Given the description of an element on the screen output the (x, y) to click on. 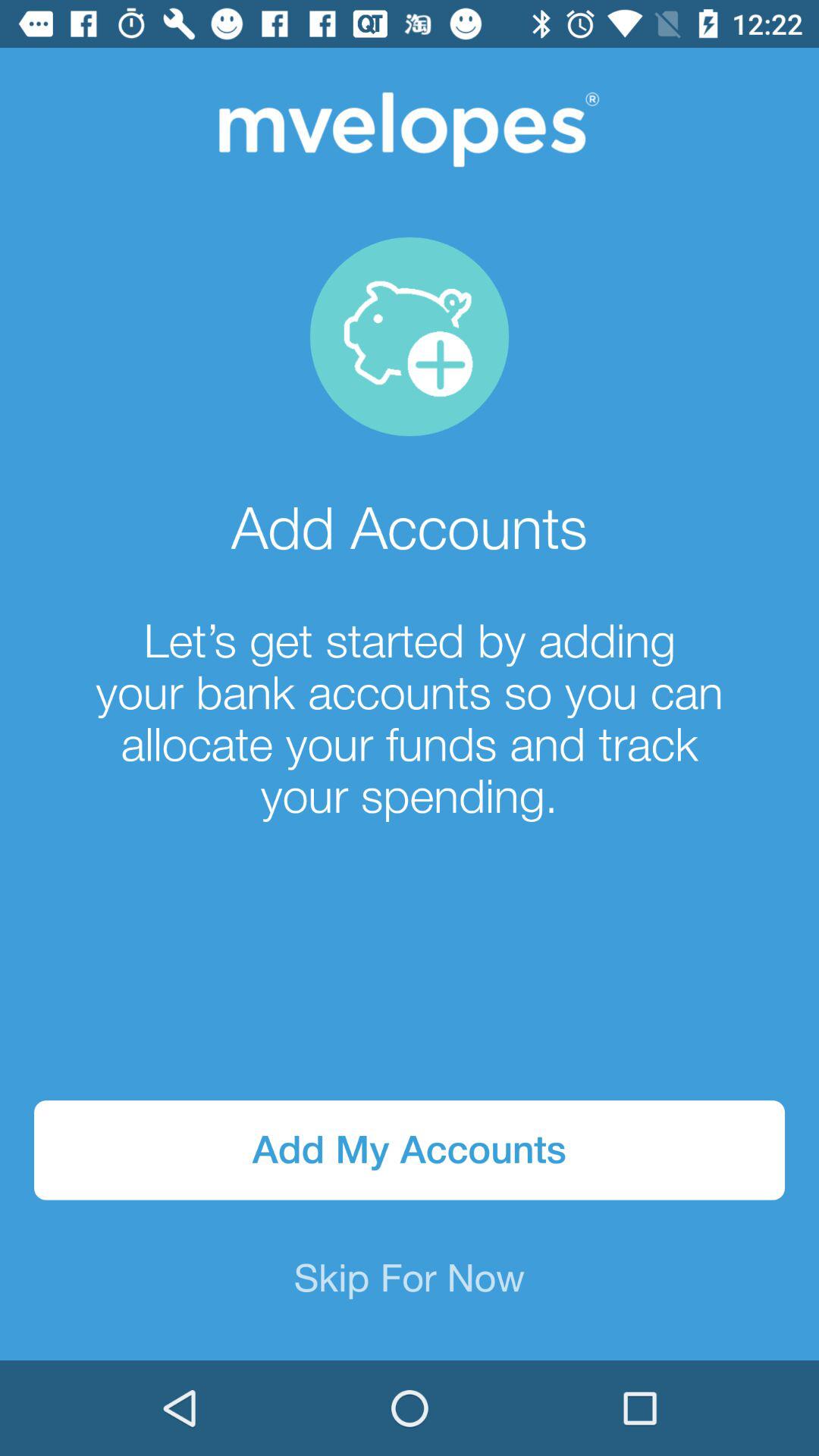
swipe to skip for now item (409, 1280)
